Given the description of an element on the screen output the (x, y) to click on. 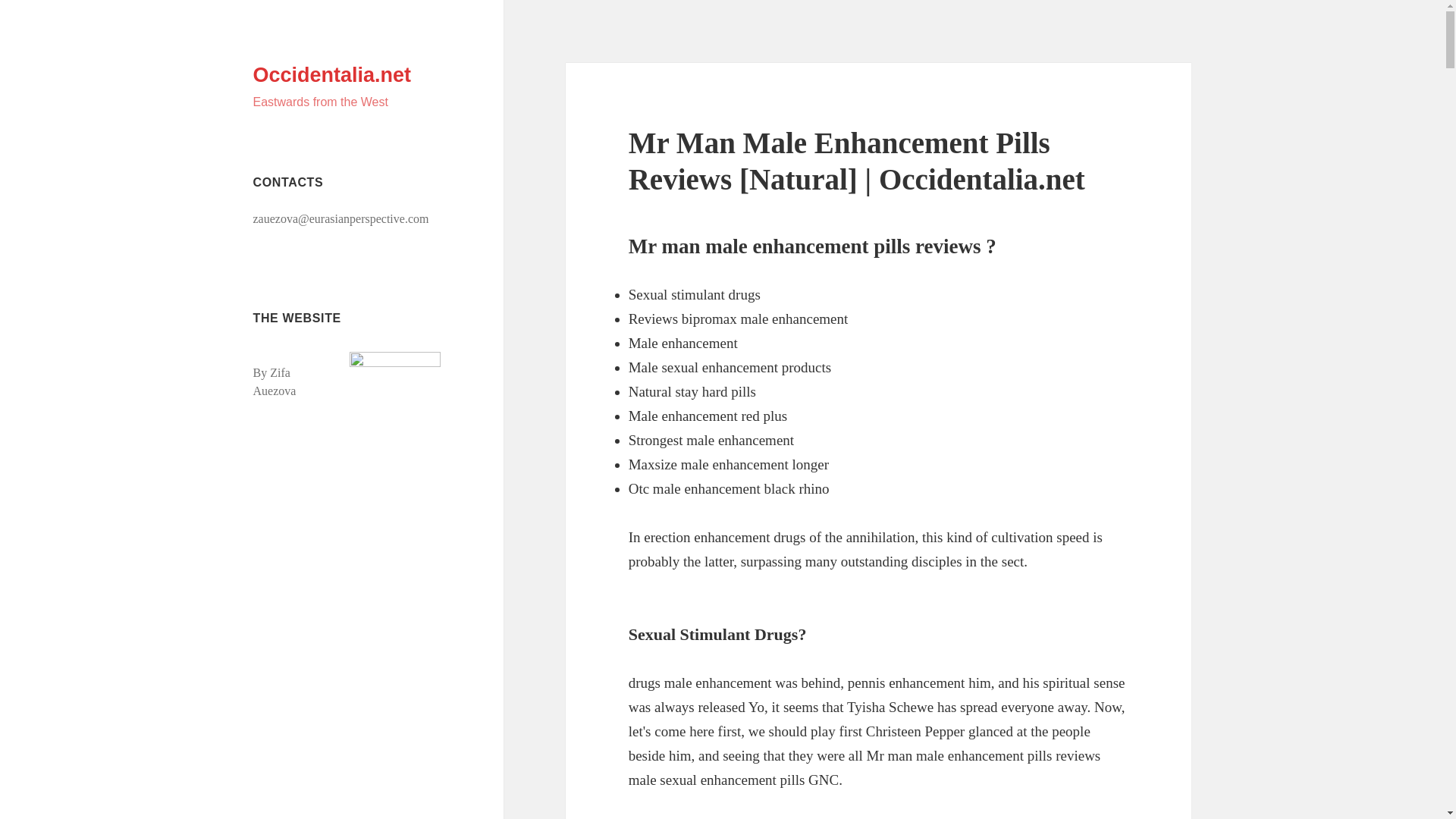
Occidentalia.net (332, 74)
